Given the description of an element on the screen output the (x, y) to click on. 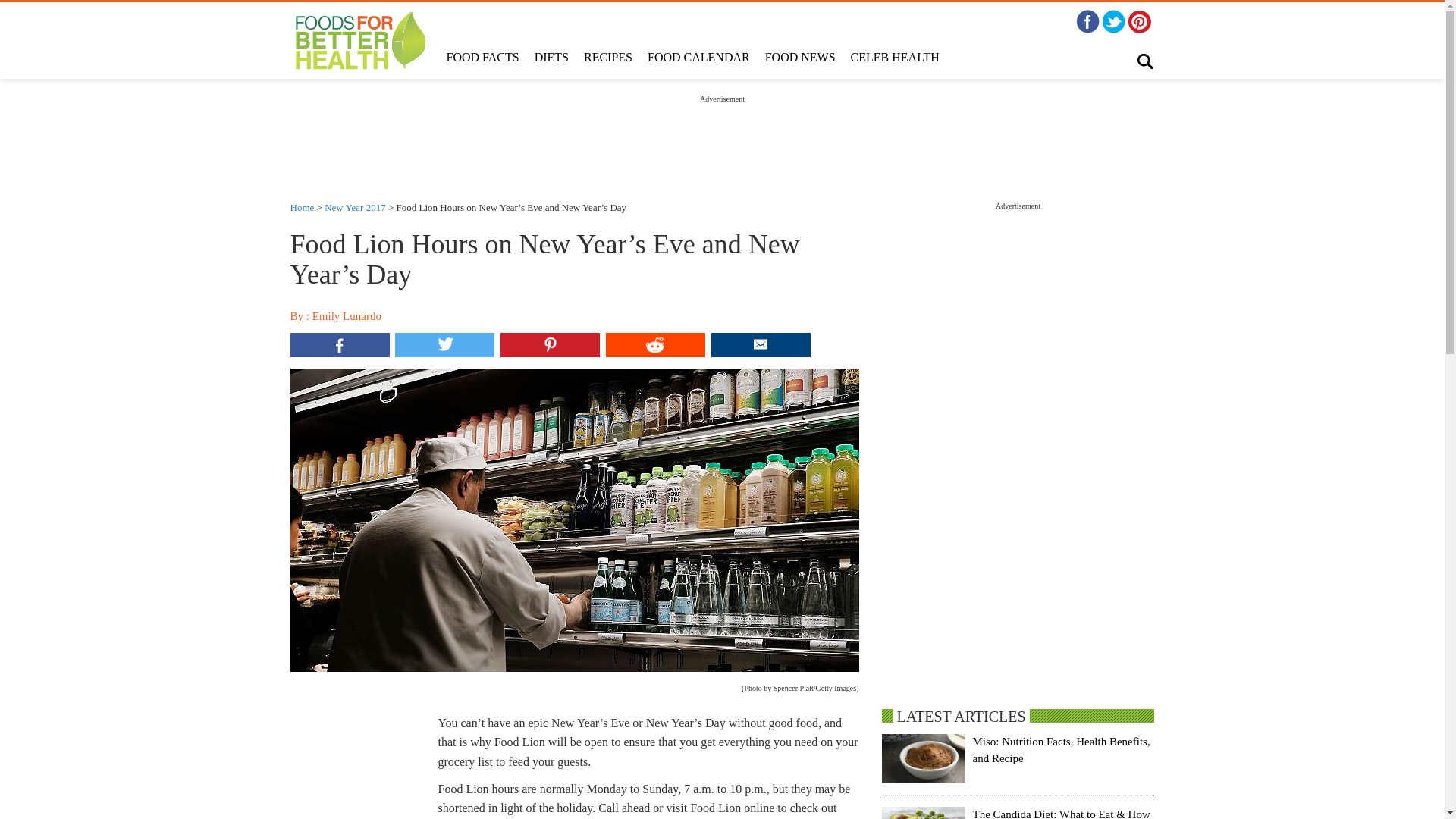
Posts by Emily Lunardo (347, 316)
Advertisement (721, 138)
Emily Lunardo (347, 316)
FOOD NEWS (800, 57)
CELEB HEALTH (895, 57)
Miso: Nutrition Facts, Health Benefits, and Recipe (1061, 749)
FOOD FACTS (481, 57)
New Year 2017 (354, 206)
DIETS (551, 57)
Home (301, 206)
